Given the description of an element on the screen output the (x, y) to click on. 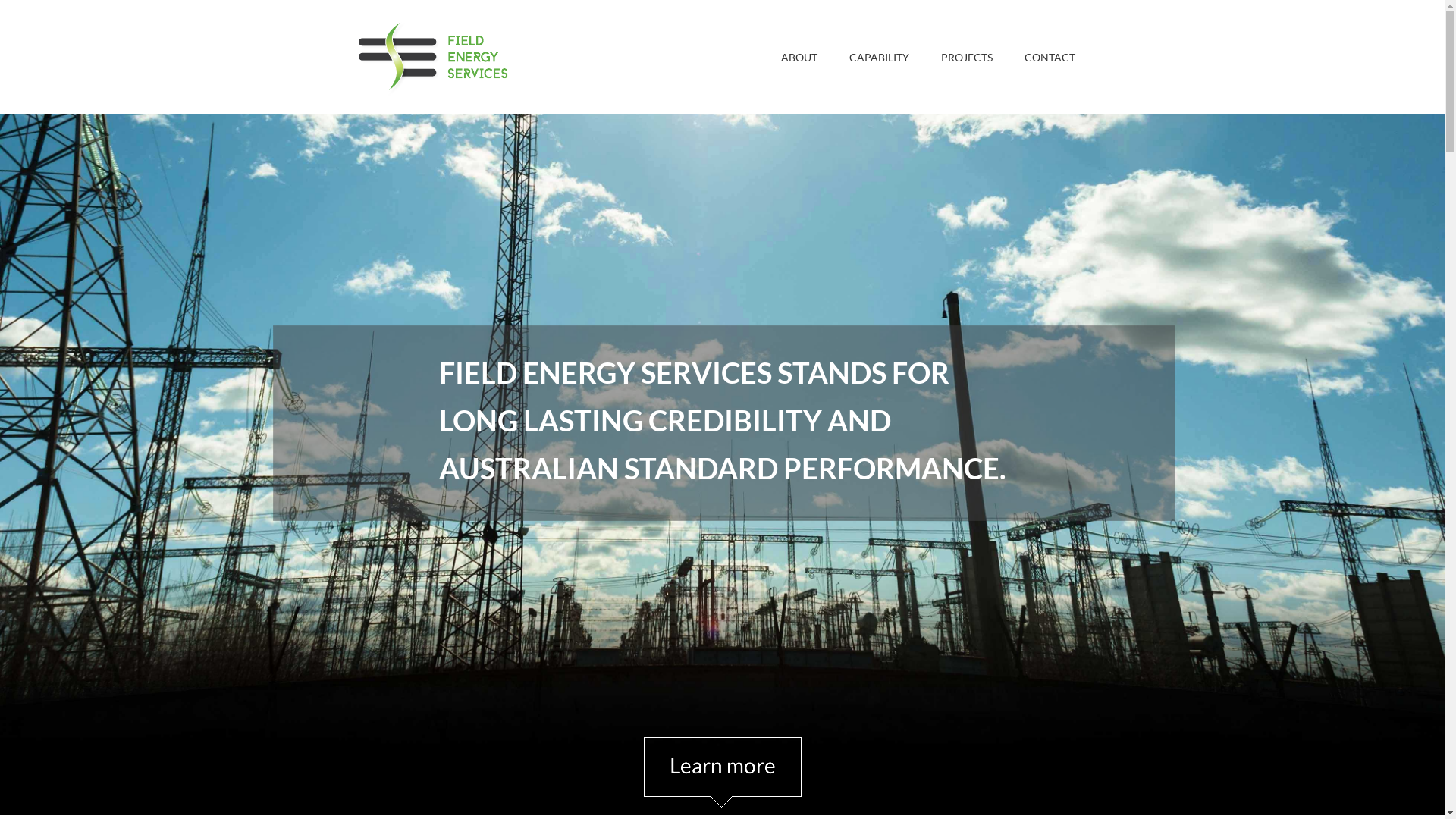
ABOUT Element type: text (799, 56)
PROJECTS Element type: text (966, 56)
CONTACT Element type: text (1049, 56)
CAPABILITY Element type: text (878, 56)
